Given the description of an element on the screen output the (x, y) to click on. 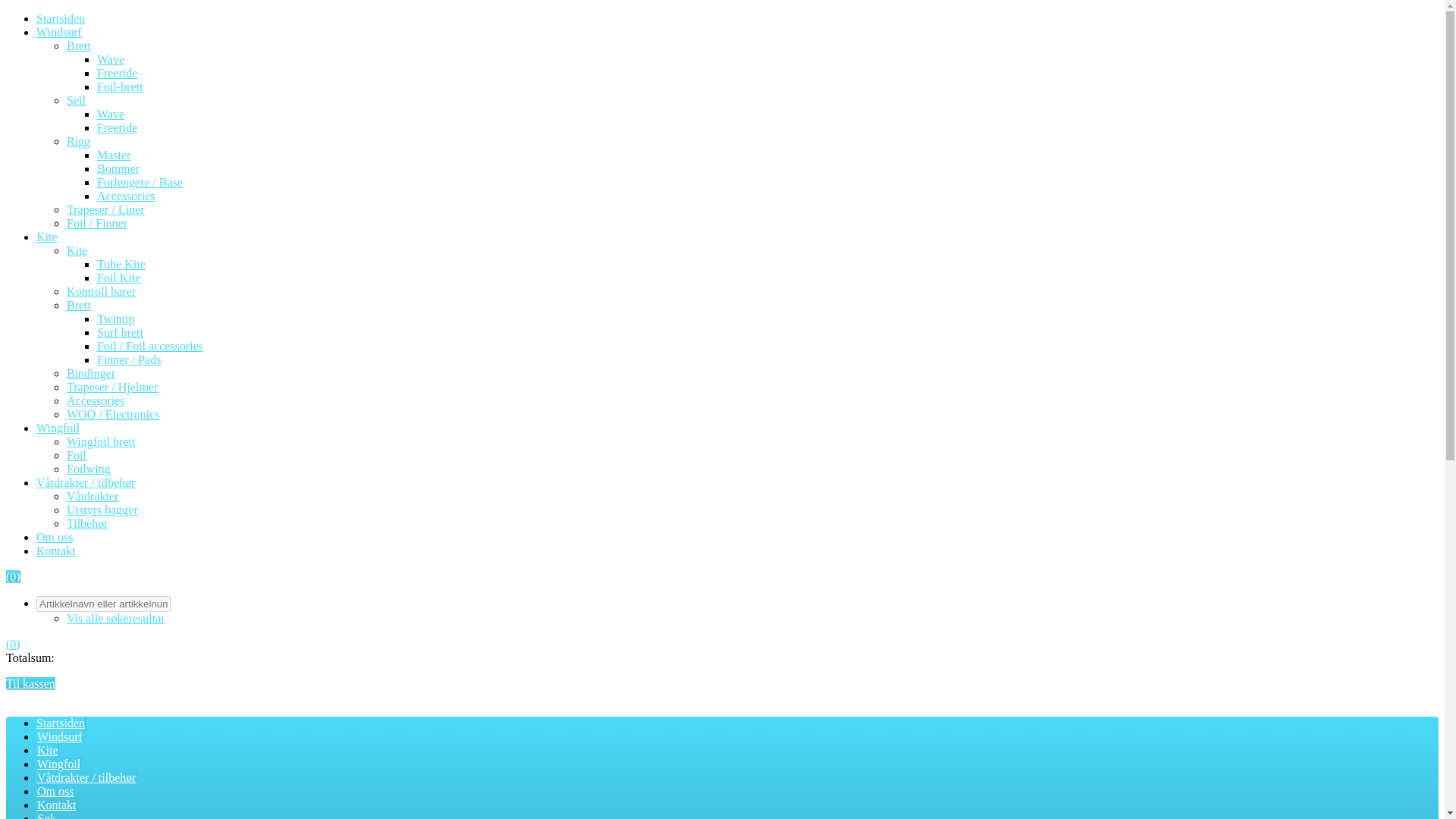
Kontroll barer (100, 291)
Foil-brett (119, 86)
Master (114, 154)
Windsurf (58, 31)
Tube Kite (121, 264)
Foil (75, 454)
Twintip (116, 318)
Brett (78, 45)
Wave (110, 59)
Freeride (116, 127)
Foilwing (88, 468)
Brett (78, 305)
Bommer (118, 168)
Wingfoil (58, 427)
Startsiden (60, 18)
